Given the description of an element on the screen output the (x, y) to click on. 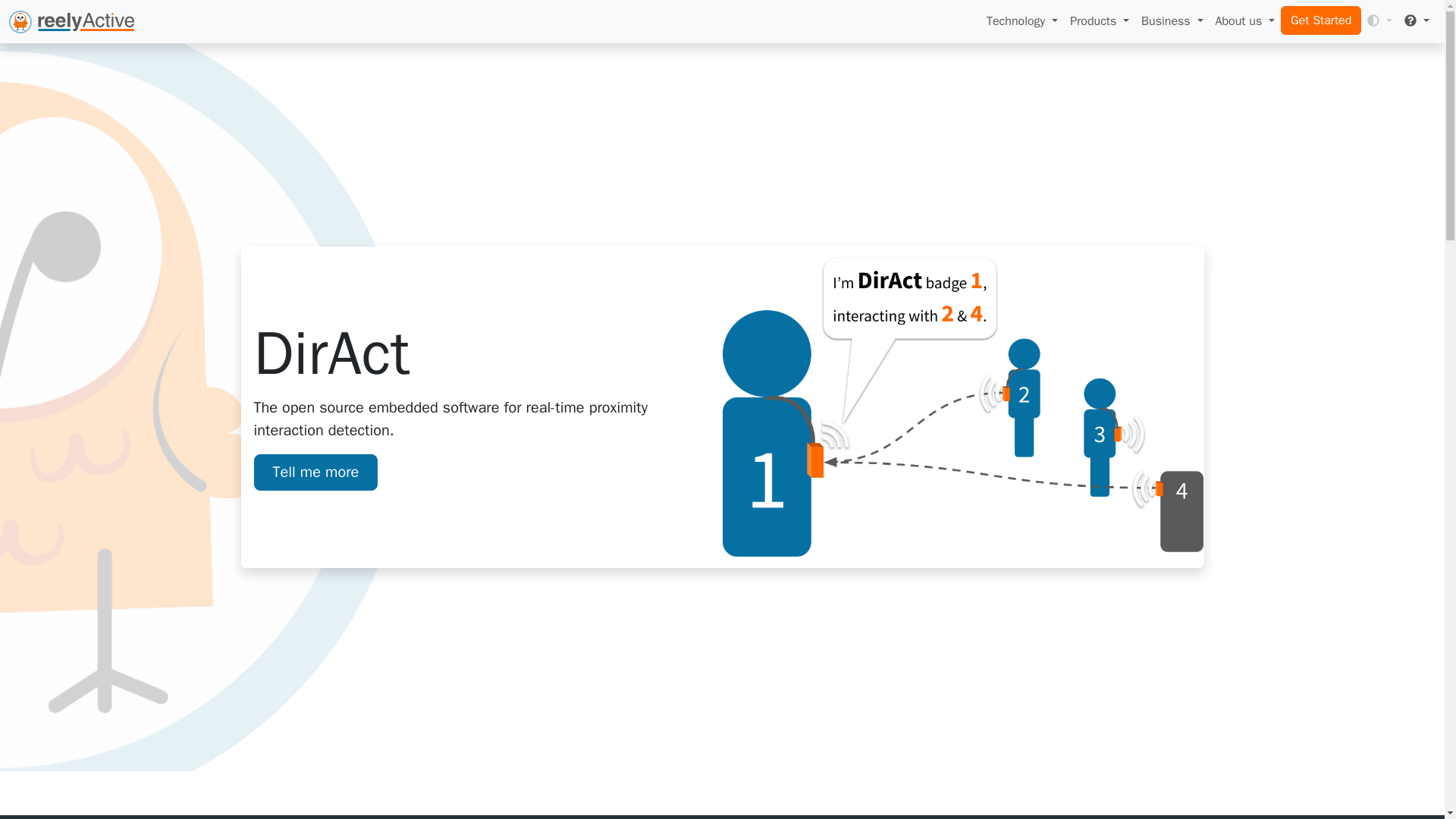
Technology (1021, 20)
Products (1099, 20)
Business (1171, 20)
